Given the description of an element on the screen output the (x, y) to click on. 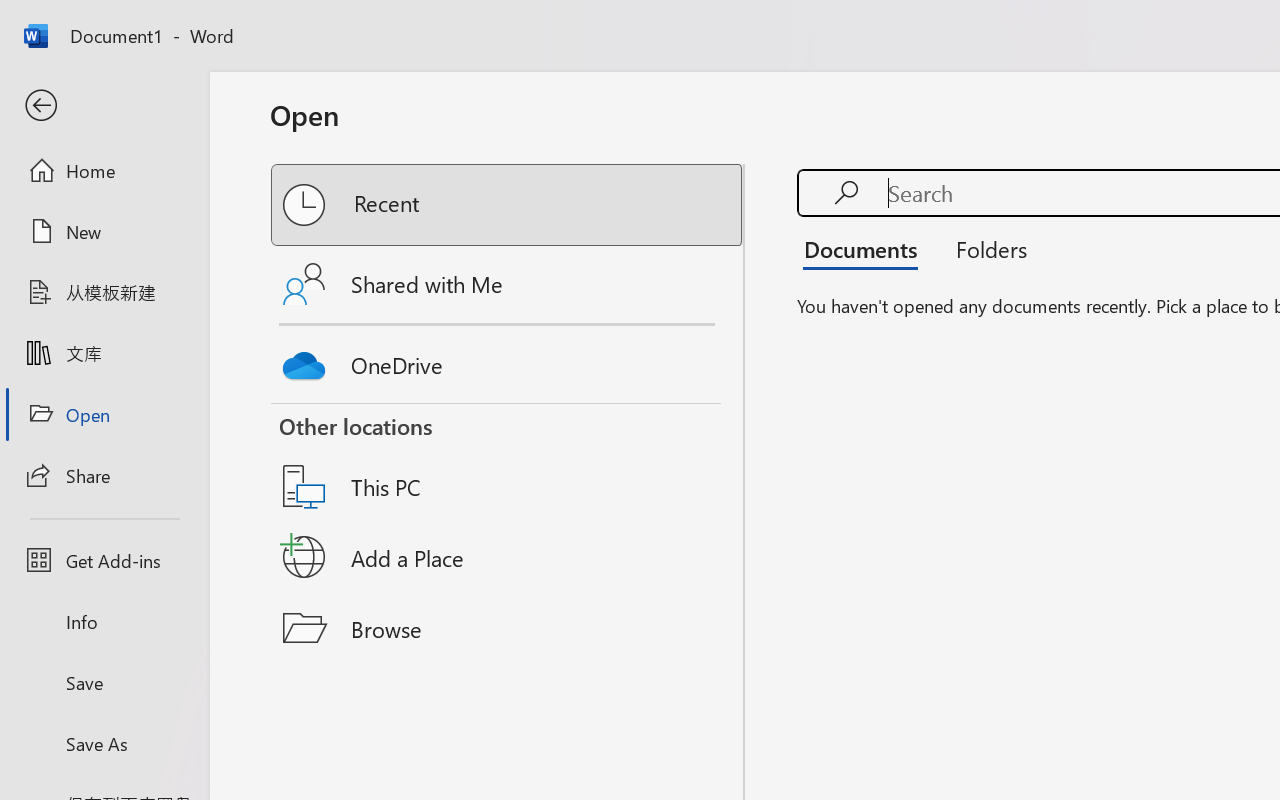
Recent (507, 205)
Documents (866, 248)
New (104, 231)
Browse (507, 627)
Back (104, 106)
